Given the description of an element on the screen output the (x, y) to click on. 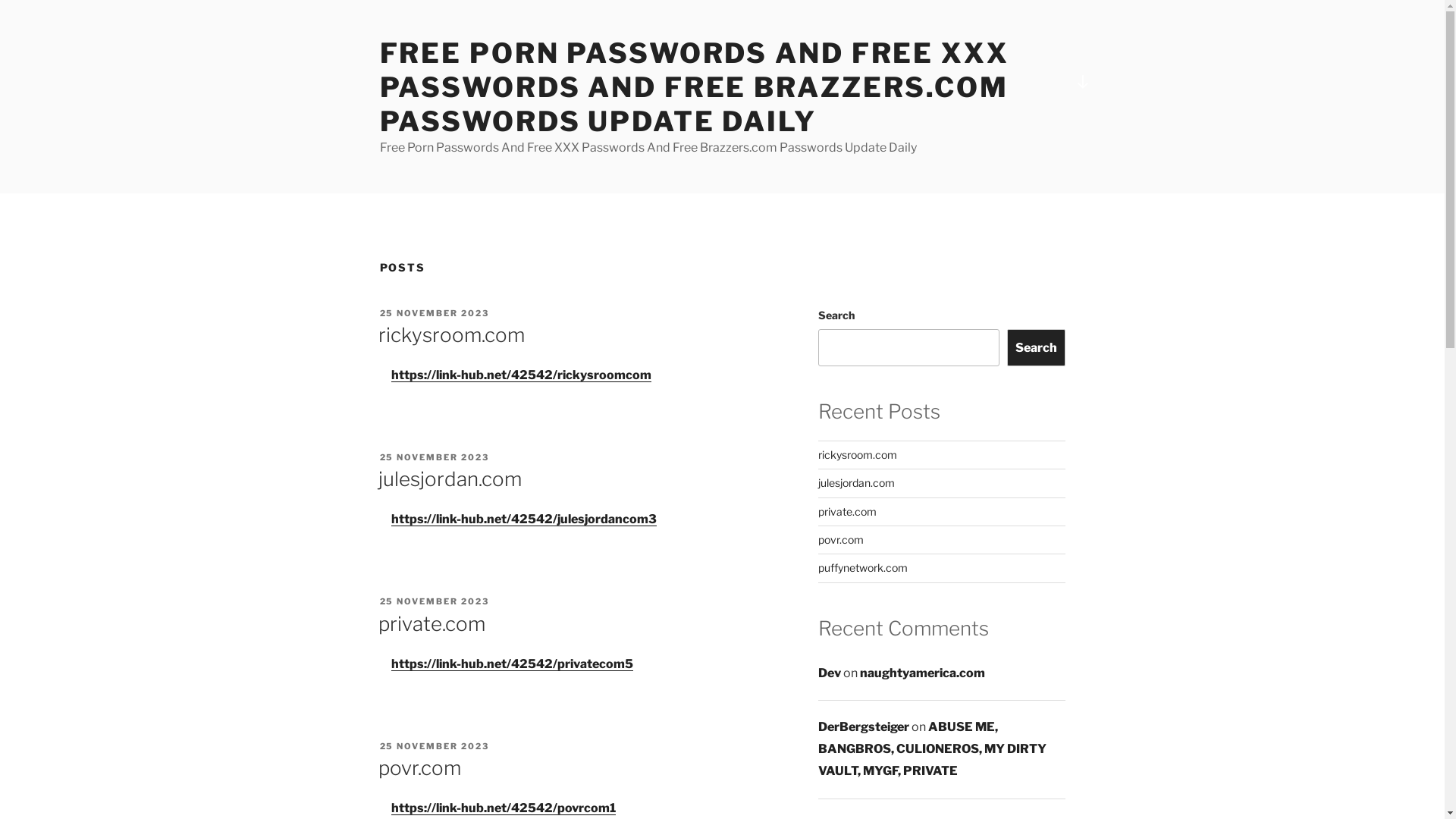
rickysroom.com Element type: text (857, 454)
julesjordan.com Element type: text (448, 478)
rickysroom.com Element type: text (450, 334)
private.com Element type: text (847, 511)
julesjordan.com Element type: text (856, 482)
Scroll down to content Element type: text (1082, 81)
povr.com Element type: text (418, 767)
Search Element type: text (1036, 347)
https://link-hub.net/42542/povrcom1 Element type: text (503, 807)
25 NOVEMBER 2023 Element type: text (434, 745)
puffynetwork.com Element type: text (862, 567)
DerBergsteiger Element type: text (863, 726)
private.com Element type: text (430, 623)
https://link-hub.net/42542/privatecom5 Element type: text (512, 663)
Dev Element type: text (829, 672)
25 NOVEMBER 2023 Element type: text (434, 456)
https://link-hub.net/42542/julesjordancom3 Element type: text (523, 518)
povr.com Element type: text (840, 539)
25 NOVEMBER 2023 Element type: text (434, 312)
https://link-hub.net/42542/rickysroomcom Element type: text (521, 374)
naughtyamerica.com Element type: text (922, 672)
25 NOVEMBER 2023 Element type: text (434, 601)
